Given the description of an element on the screen output the (x, y) to click on. 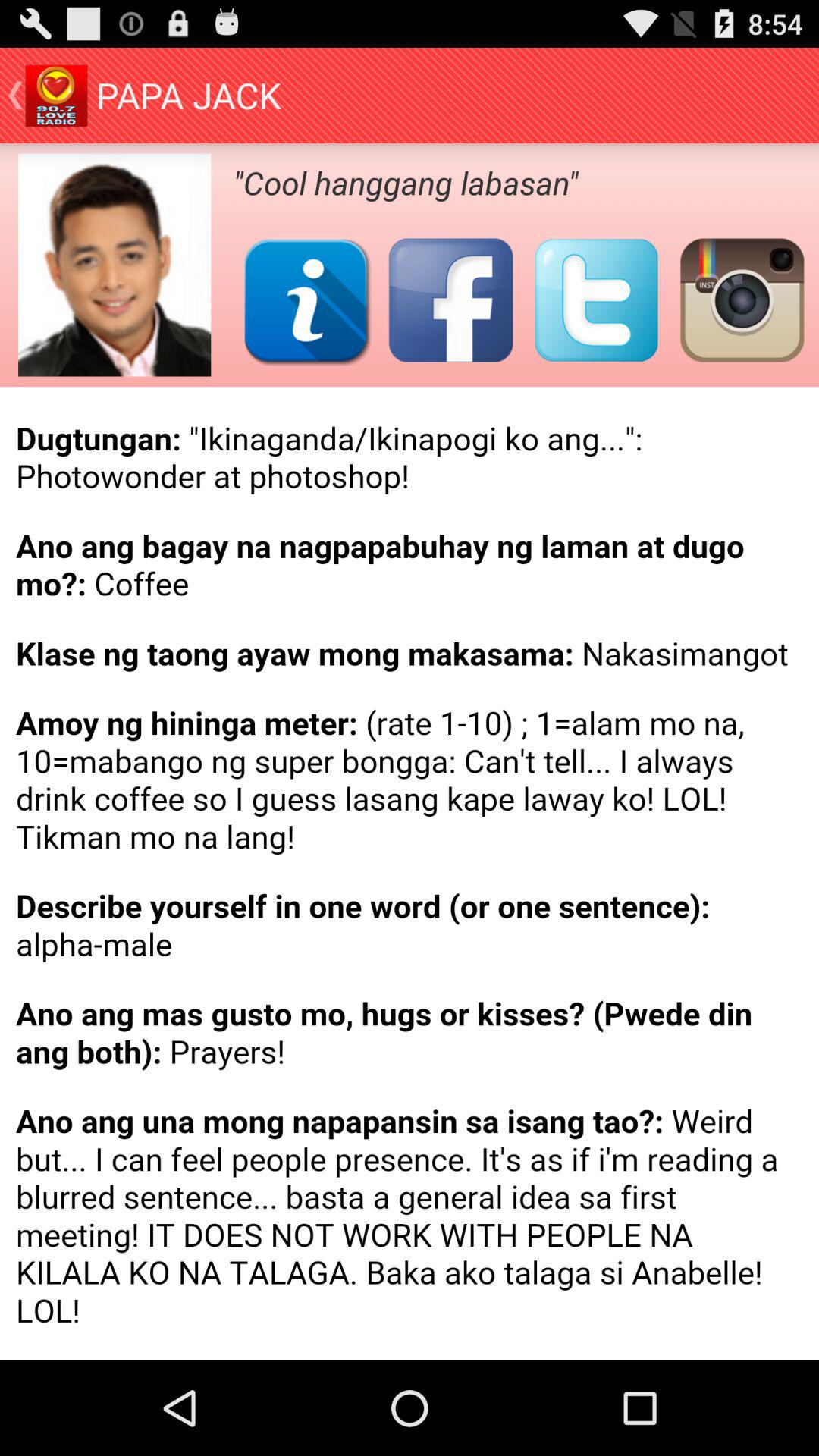
facebook for person 's profile (450, 299)
